Given the description of an element on the screen output the (x, y) to click on. 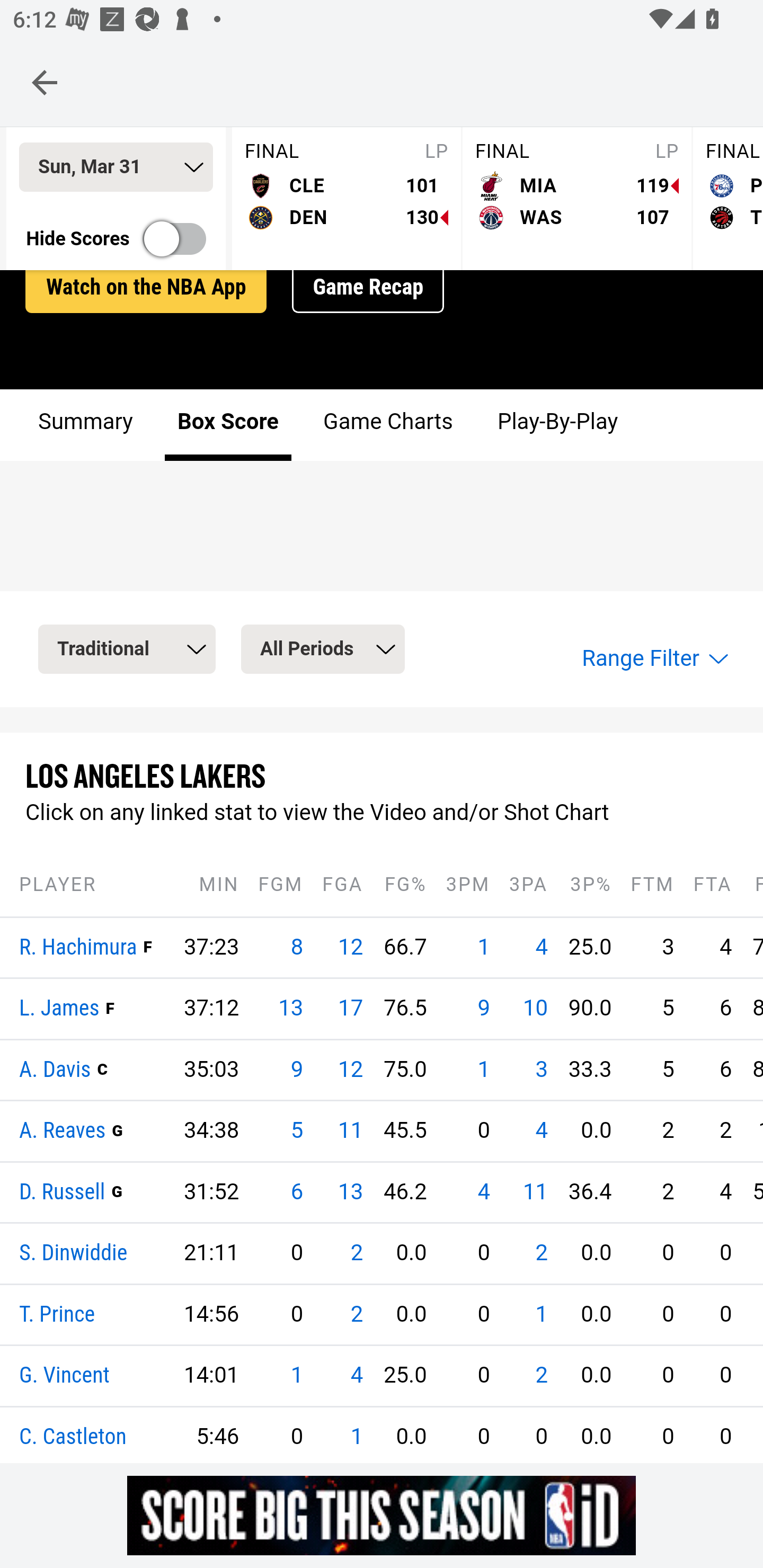
Navigate up (44, 82)
Sun, Mar 31 (115, 168)
Watch on the NBA App (146, 289)
Game Recap (367, 289)
Summary Summary Summary (85, 426)
Box Score Box Score Box Score (228, 426)
Game Charts Game Charts Game Charts (387, 426)
Play-By-Play Play-By-Play Play-By-Play (556, 426)
Traditional (126, 650)
All Periods (322, 650)
Range Filter (653, 659)
R. Hachimura R .  Hachimura (78, 948)
8 (296, 948)
12 (350, 948)
1 (483, 948)
4 (541, 948)
L. James L .  James (59, 1010)
13 (290, 1009)
17 (350, 1009)
9 (483, 1009)
10 (534, 1009)
A. Davis A .  Davis (55, 1070)
9 (296, 1070)
12 (350, 1070)
1 (483, 1070)
3 (541, 1070)
A. Reaves A .  Reaves (62, 1133)
5 (296, 1132)
11 (350, 1132)
4 (541, 1132)
D. Russell D .  Russell (62, 1193)
6 (296, 1193)
13 (350, 1193)
4 (483, 1193)
11 (534, 1193)
S. Dinwiddie S .  Dinwiddie (73, 1255)
2 (356, 1254)
2 (541, 1254)
T. Prince T .  Prince (57, 1315)
2 (356, 1315)
1 (541, 1315)
G. Vincent G .  Vincent (64, 1378)
1 (296, 1377)
4 (356, 1377)
2 (541, 1377)
C. Castleton C .  Castleton (73, 1437)
1 (356, 1437)
g5nqqygr7owph (381, 1515)
